Given the description of an element on the screen output the (x, y) to click on. 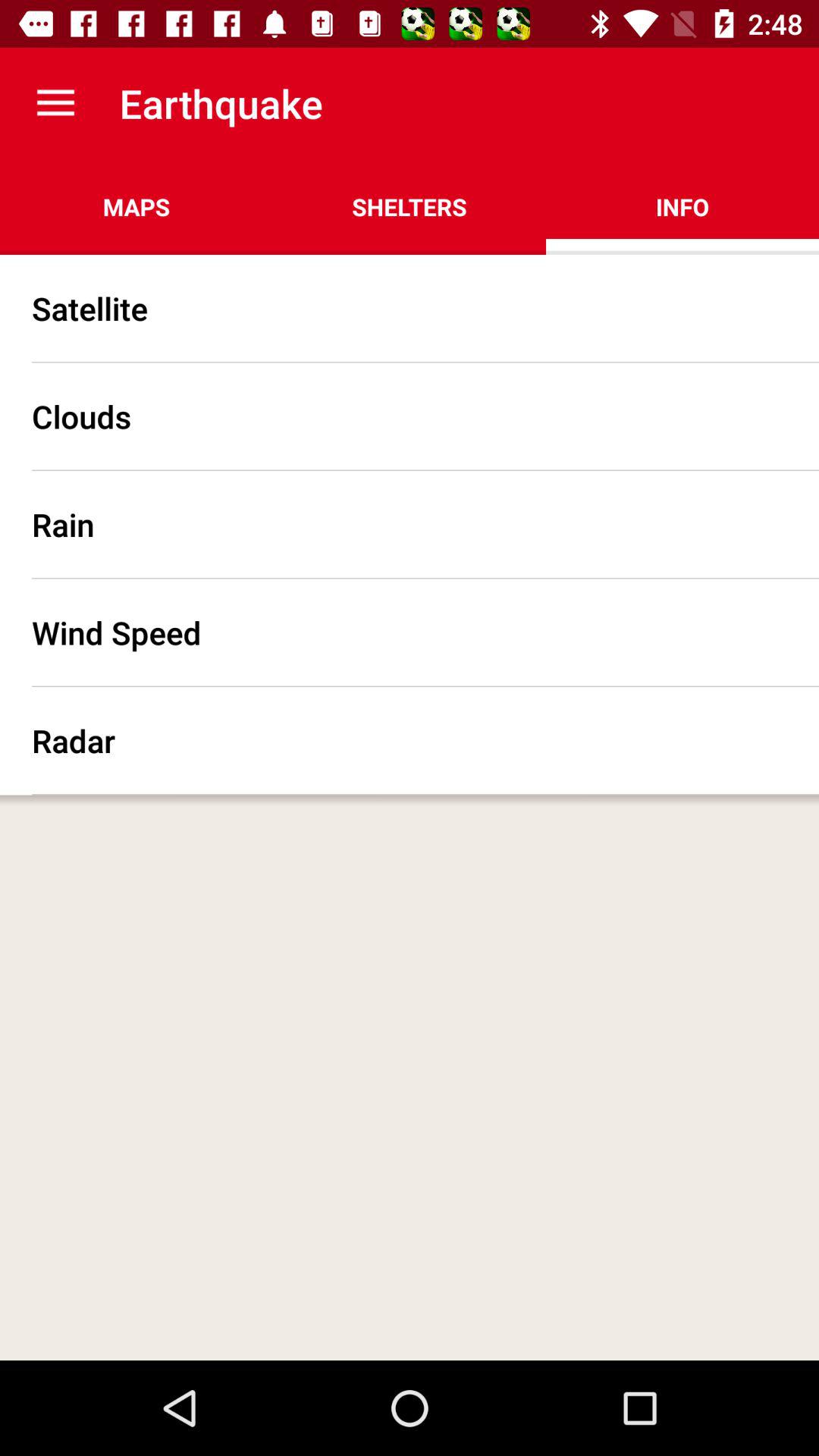
turn off app below earthquake item (409, 206)
